Given the description of an element on the screen output the (x, y) to click on. 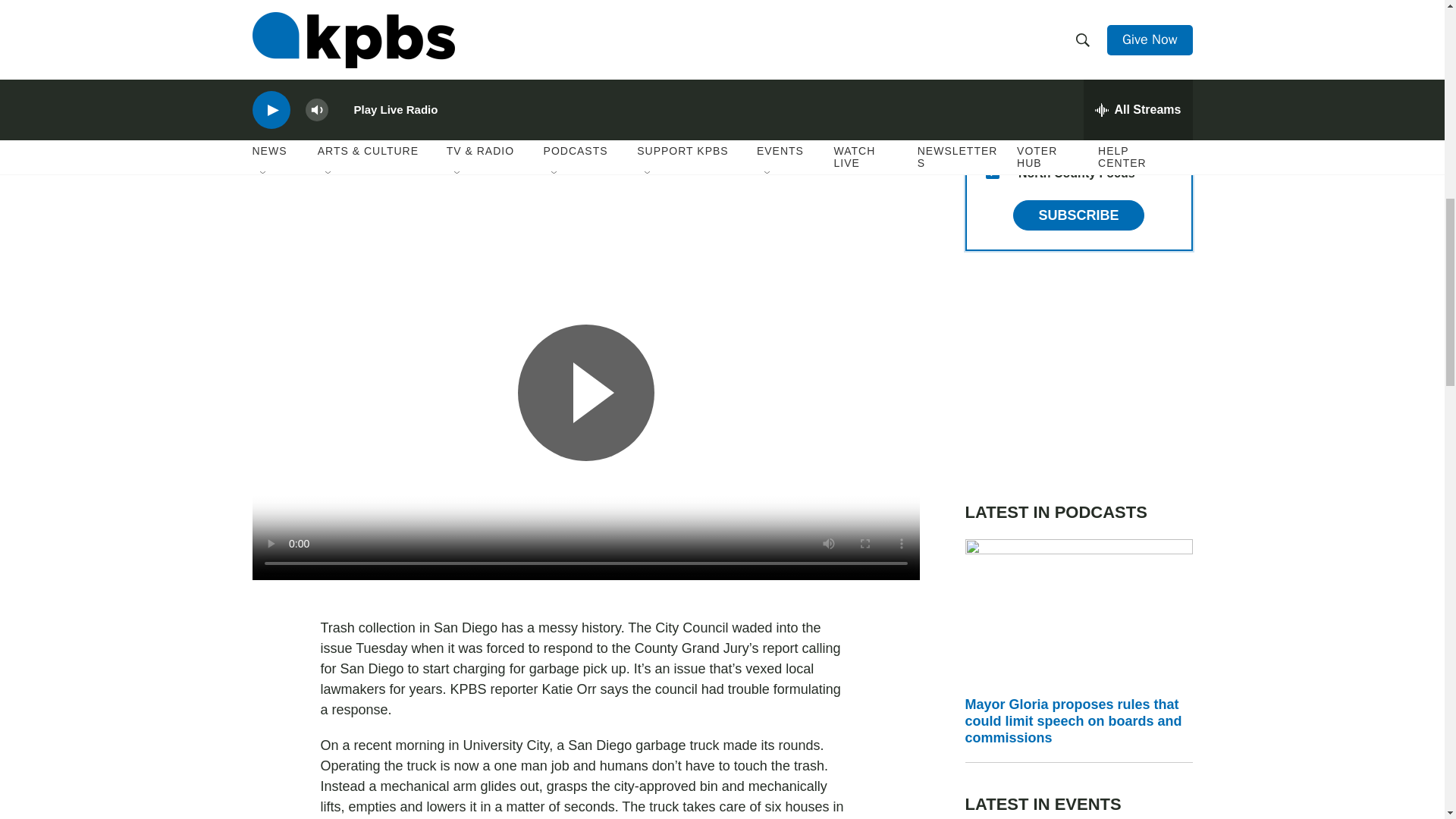
1 (991, 99)
15 (991, 172)
6 (991, 26)
8 (991, 135)
2 (991, 62)
